Given the description of an element on the screen output the (x, y) to click on. 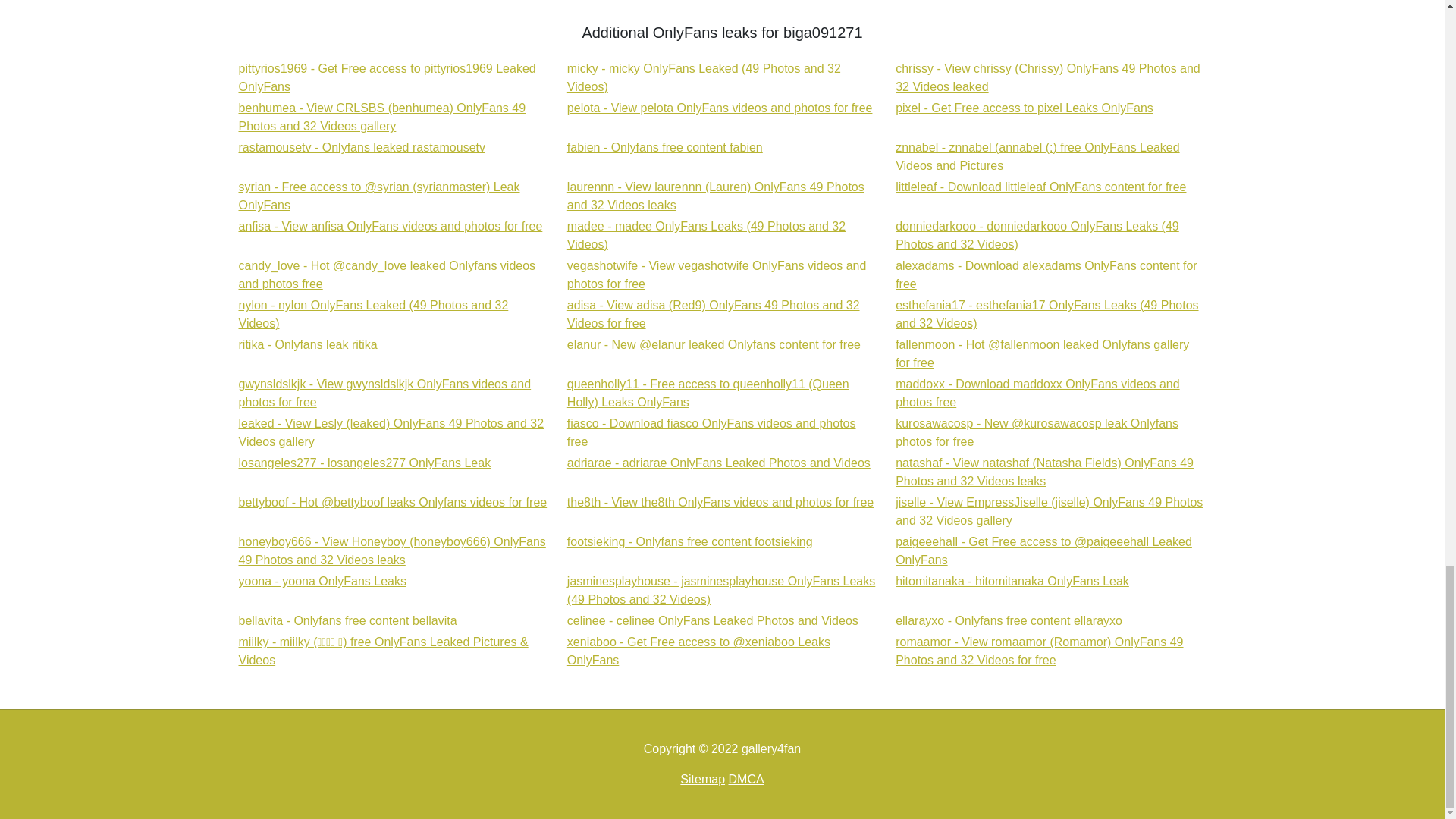
pixel - Get Free access to pixel Leaks OnlyFans (1024, 107)
pelota - View pelota OnlyFans videos and photos for free (1024, 107)
rastamousetv - Onlyfans leaked rastamousetv (716, 274)
